Given the description of an element on the screen output the (x, y) to click on. 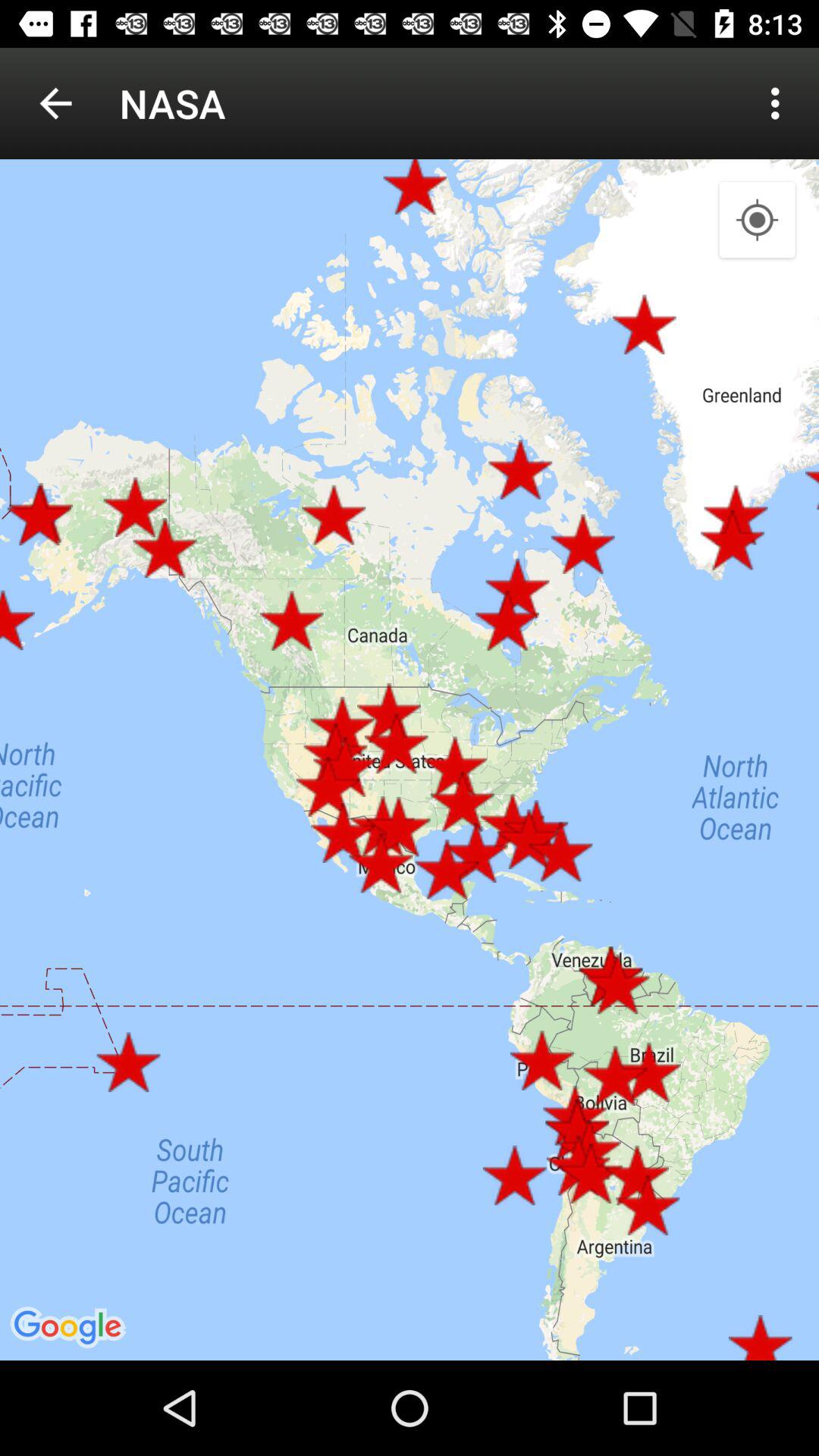
tap item to the right of nasa (779, 103)
